Given the description of an element on the screen output the (x, y) to click on. 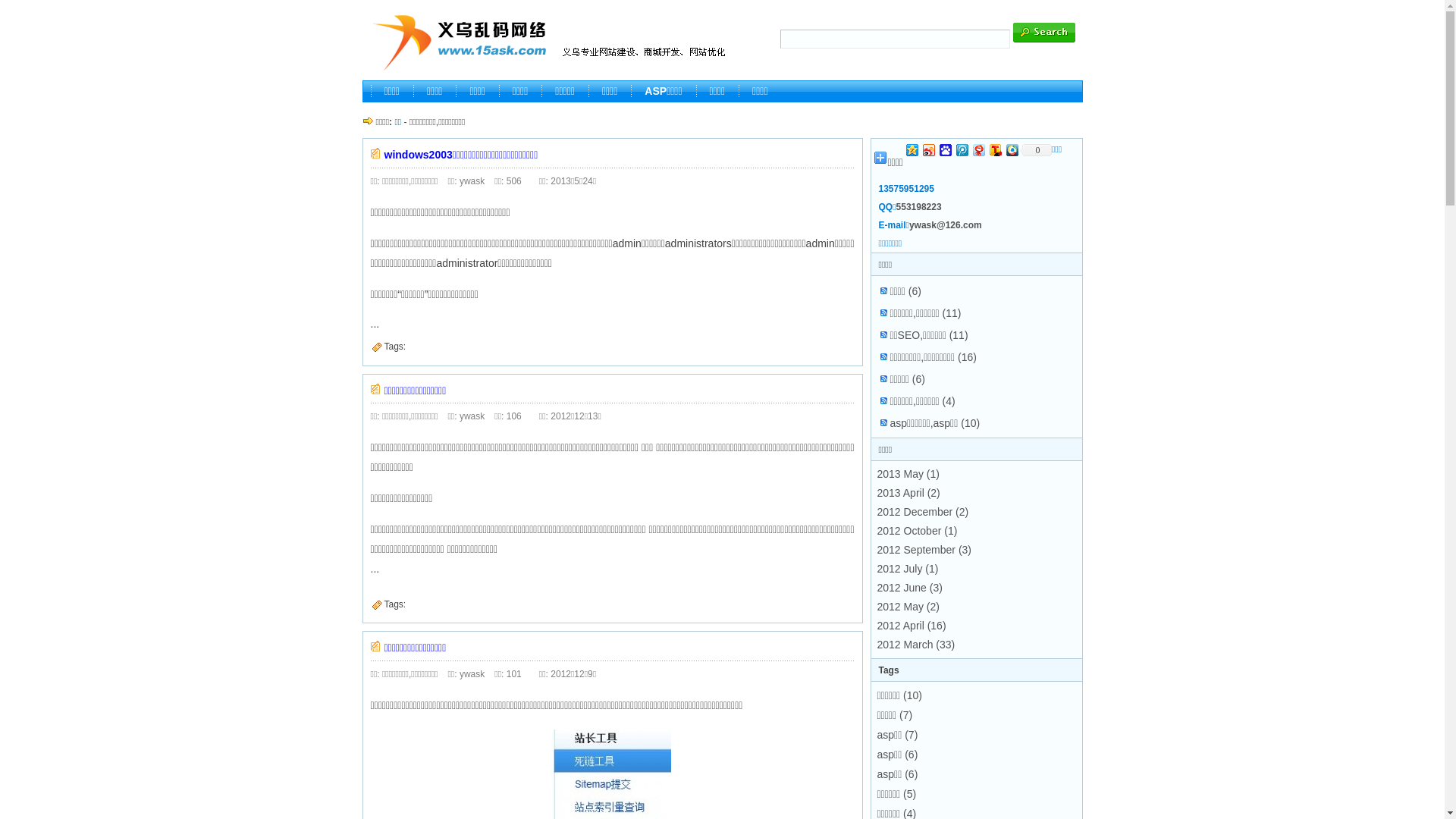
2012 May (2) Element type: text (907, 606)
2012 July (1) Element type: text (907, 568)
0 Element type: text (1035, 150)
2012 October (1) Element type: text (916, 530)
2013 April (2) Element type: text (907, 492)
ywask@126.com Element type: text (945, 224)
2012 June (3) Element type: text (908, 587)
2012 September (3) Element type: text (923, 549)
2012 April (16) Element type: text (910, 625)
2012 March (33) Element type: text (915, 644)
2012 December (2) Element type: text (922, 511)
2013 May (1) Element type: text (907, 473)
553198223 Element type: text (918, 206)
